Given the description of an element on the screen output the (x, y) to click on. 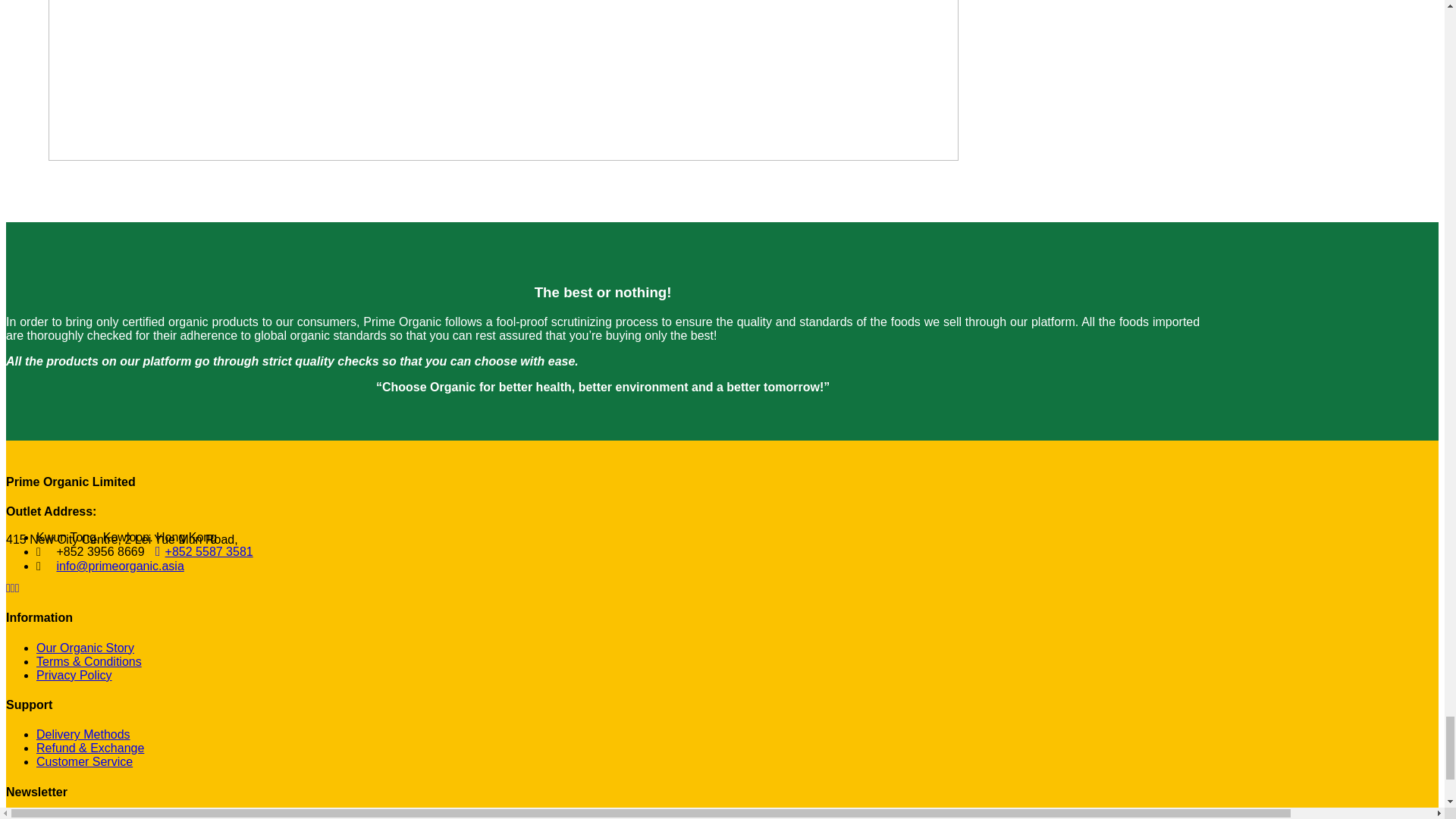
Privacy Policy (74, 675)
Customer Service (84, 761)
Delivery Methods (83, 734)
Our Organic Story (84, 647)
